Given the description of an element on the screen output the (x, y) to click on. 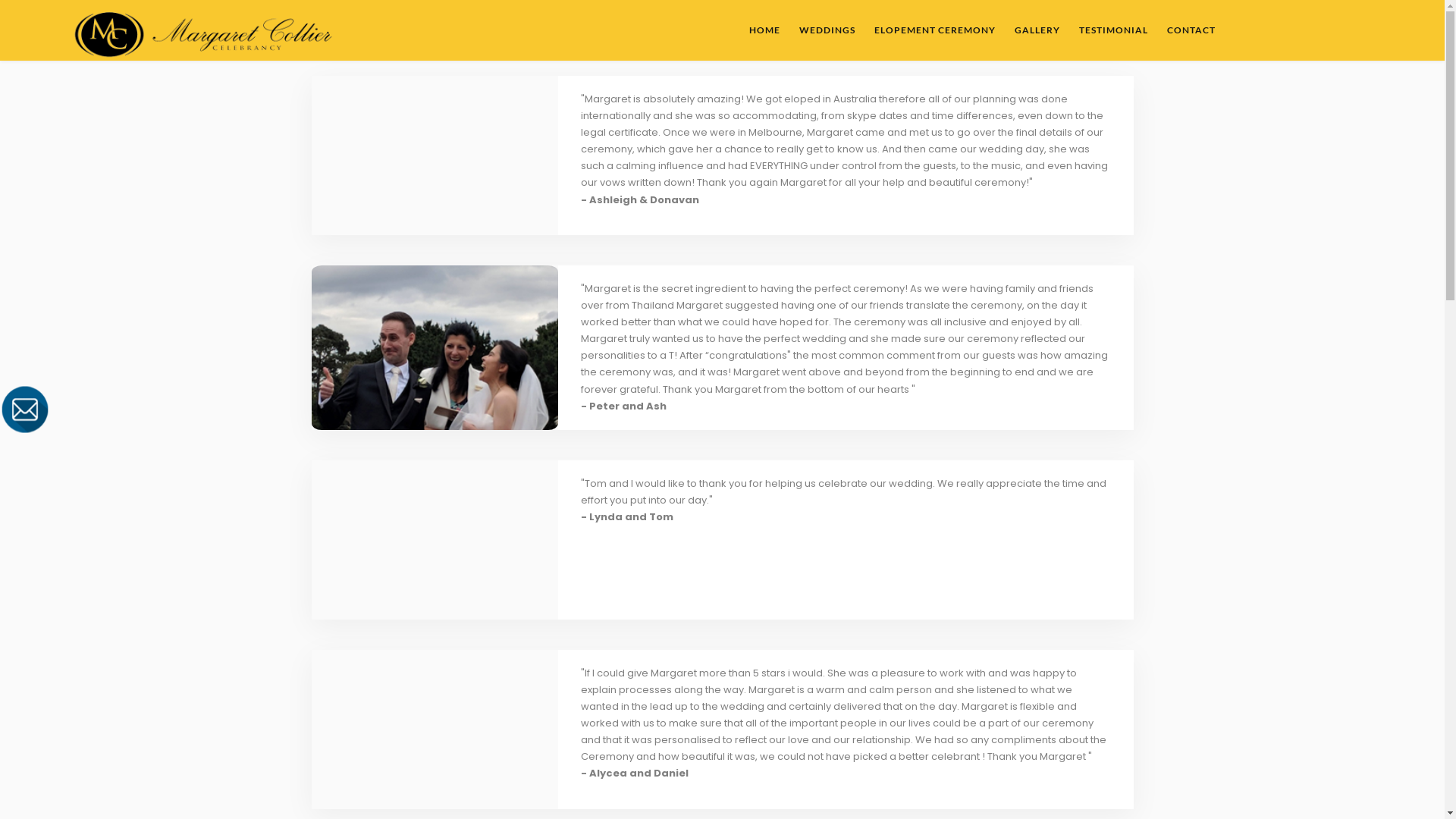
CONTACT Element type: text (1191, 30)
ELOPEMENT CEREMONY Element type: text (934, 30)
WEDDINGS Element type: text (827, 30)
TESTIMONIAL Element type: text (1113, 30)
HOME Element type: text (764, 30)
GALLERY Element type: text (1037, 30)
